Given the description of an element on the screen output the (x, y) to click on. 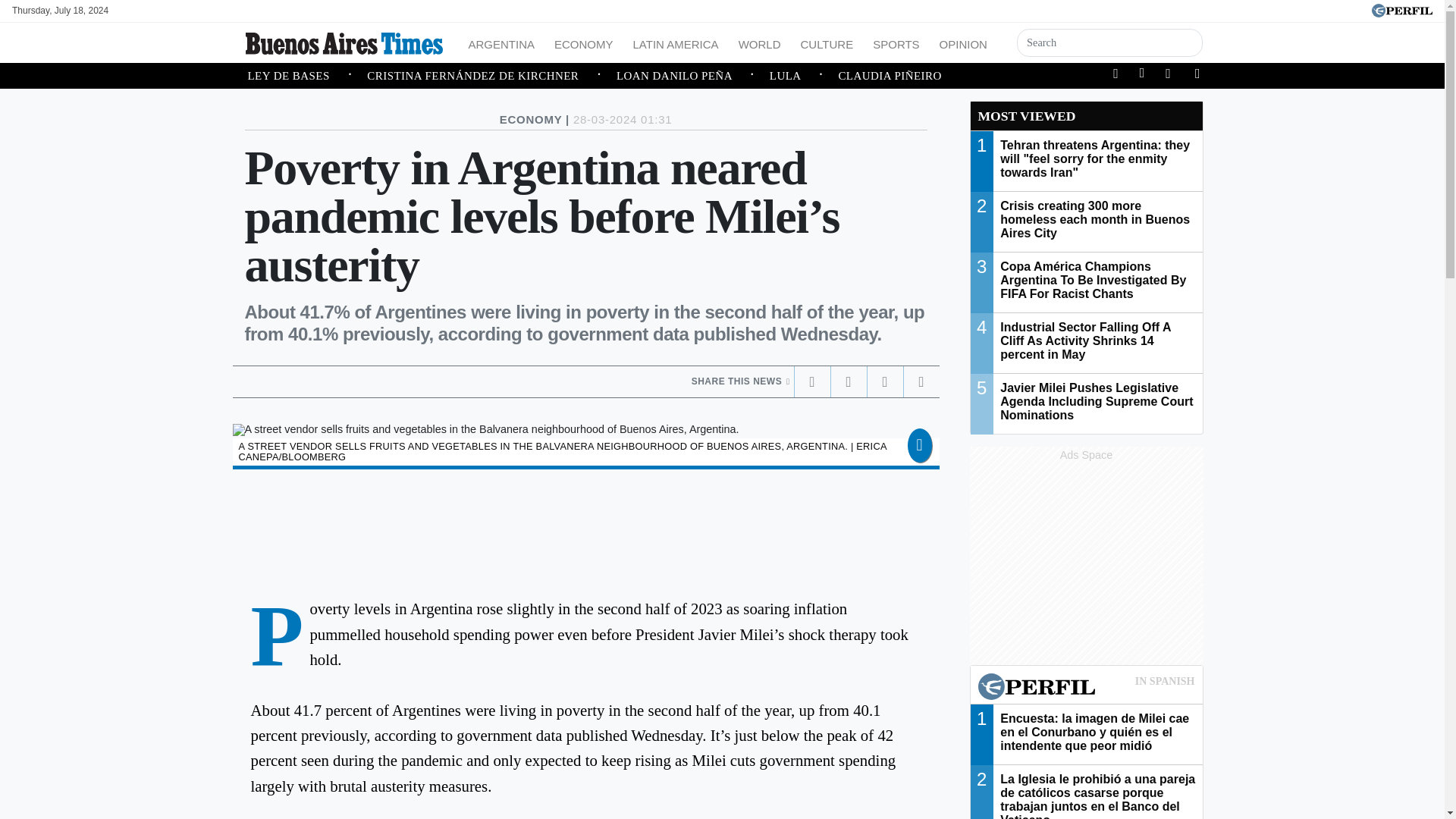
Culture (826, 42)
LATIN AMERICA (676, 42)
Opinion And Analysis (962, 42)
LULA (804, 75)
OPINION (962, 42)
SPORTS (895, 42)
LEY DE BASES (306, 75)
Sports (895, 42)
WORLD (759, 42)
Latin America (676, 42)
CULTURE (826, 42)
ECONOMY (584, 42)
